Given the description of an element on the screen output the (x, y) to click on. 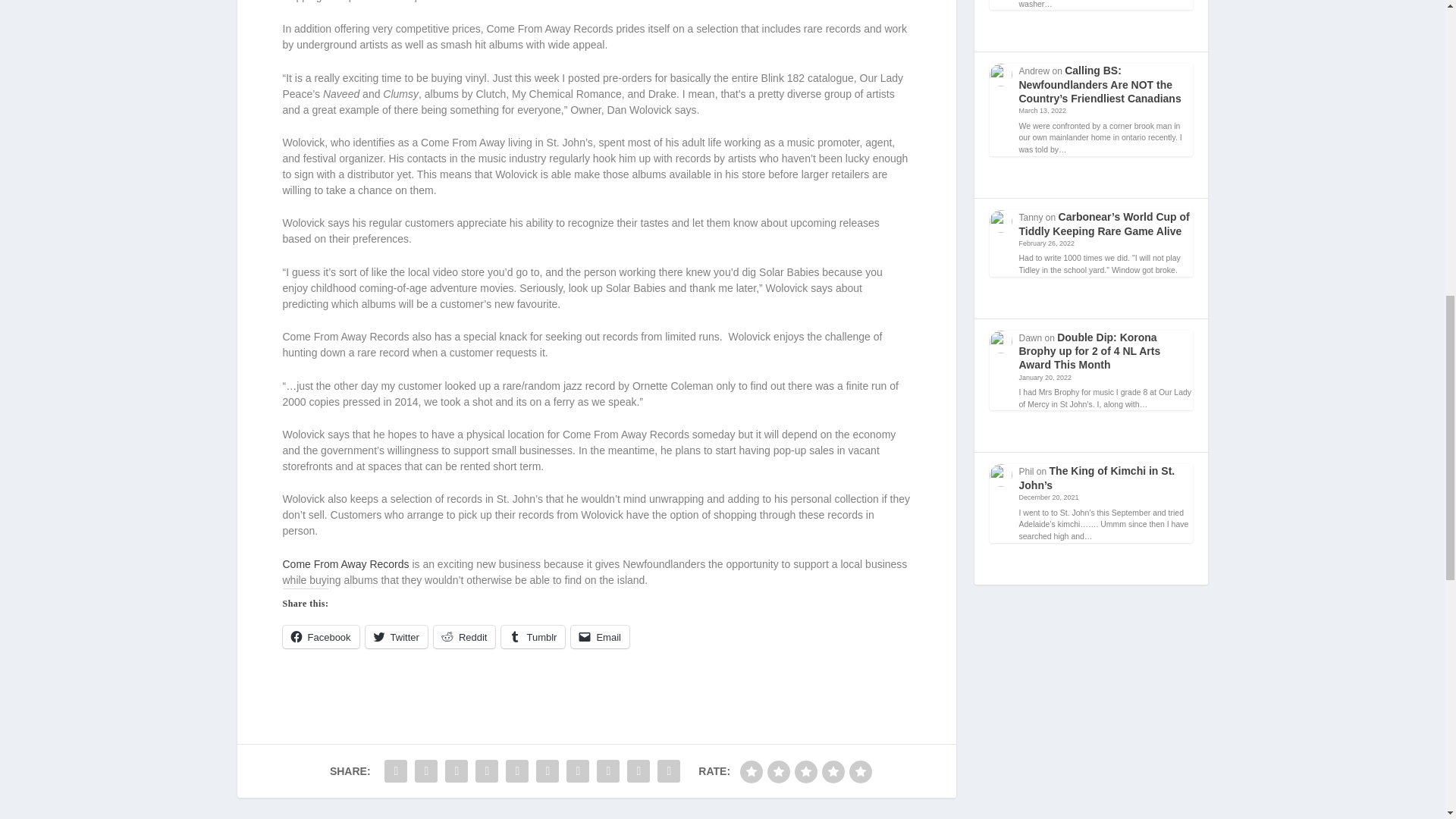
Click to share on Tumblr (532, 636)
Twitter (396, 636)
Click to email a link to a friend (599, 636)
Click to share on Reddit (464, 636)
Facebook (320, 636)
Click to share on Facebook (320, 636)
Come From Away Records (345, 563)
Click to share on Twitter (396, 636)
Email (599, 636)
